Given the description of an element on the screen output the (x, y) to click on. 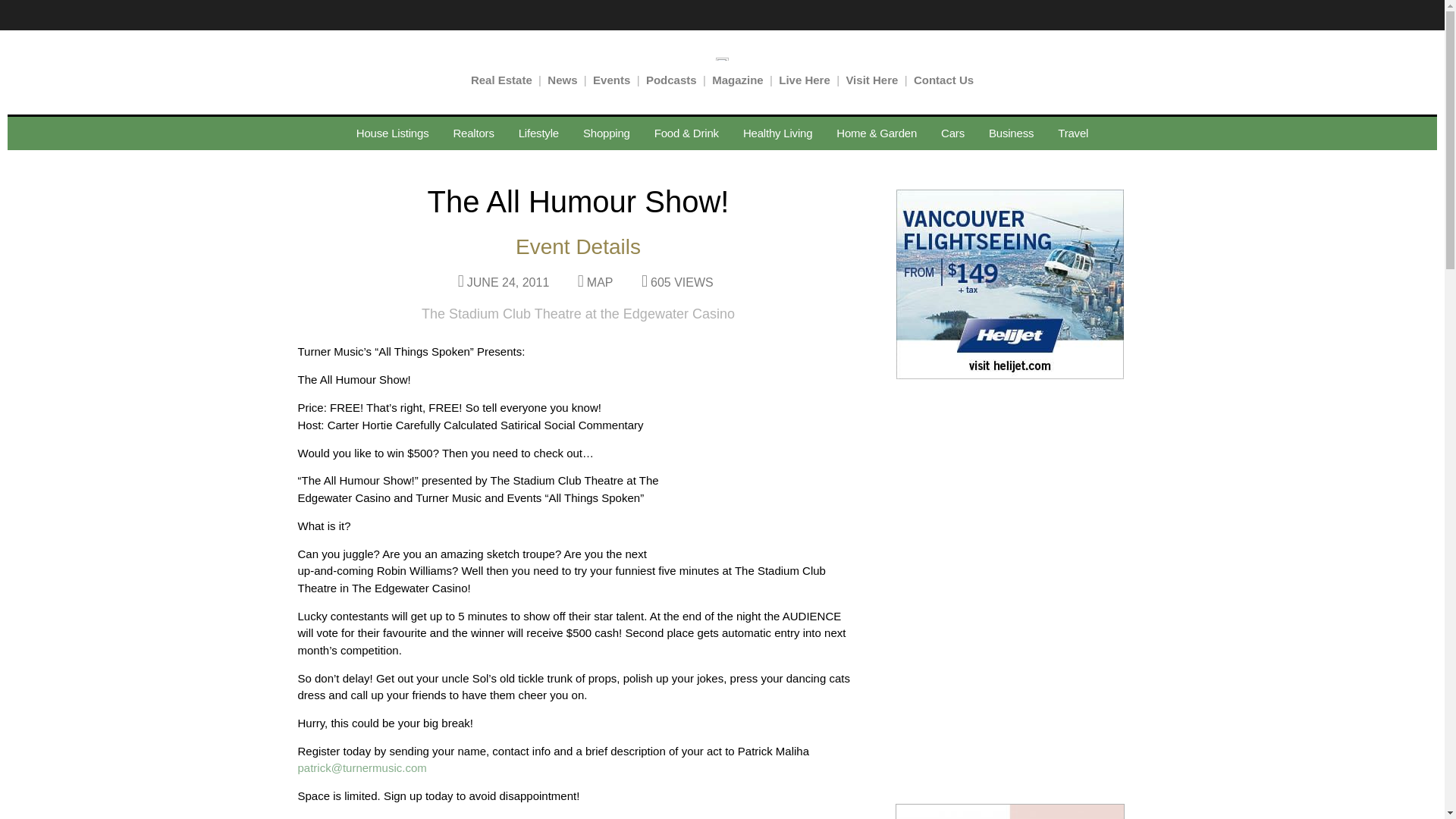
Real Estate (501, 78)
Shopping (606, 133)
Podcasts (671, 78)
Magazine (736, 78)
News (561, 78)
Contact Us (944, 78)
Live Here (803, 78)
House Listings (392, 133)
Realtors (473, 133)
Healthy Living (777, 133)
